Given the description of an element on the screen output the (x, y) to click on. 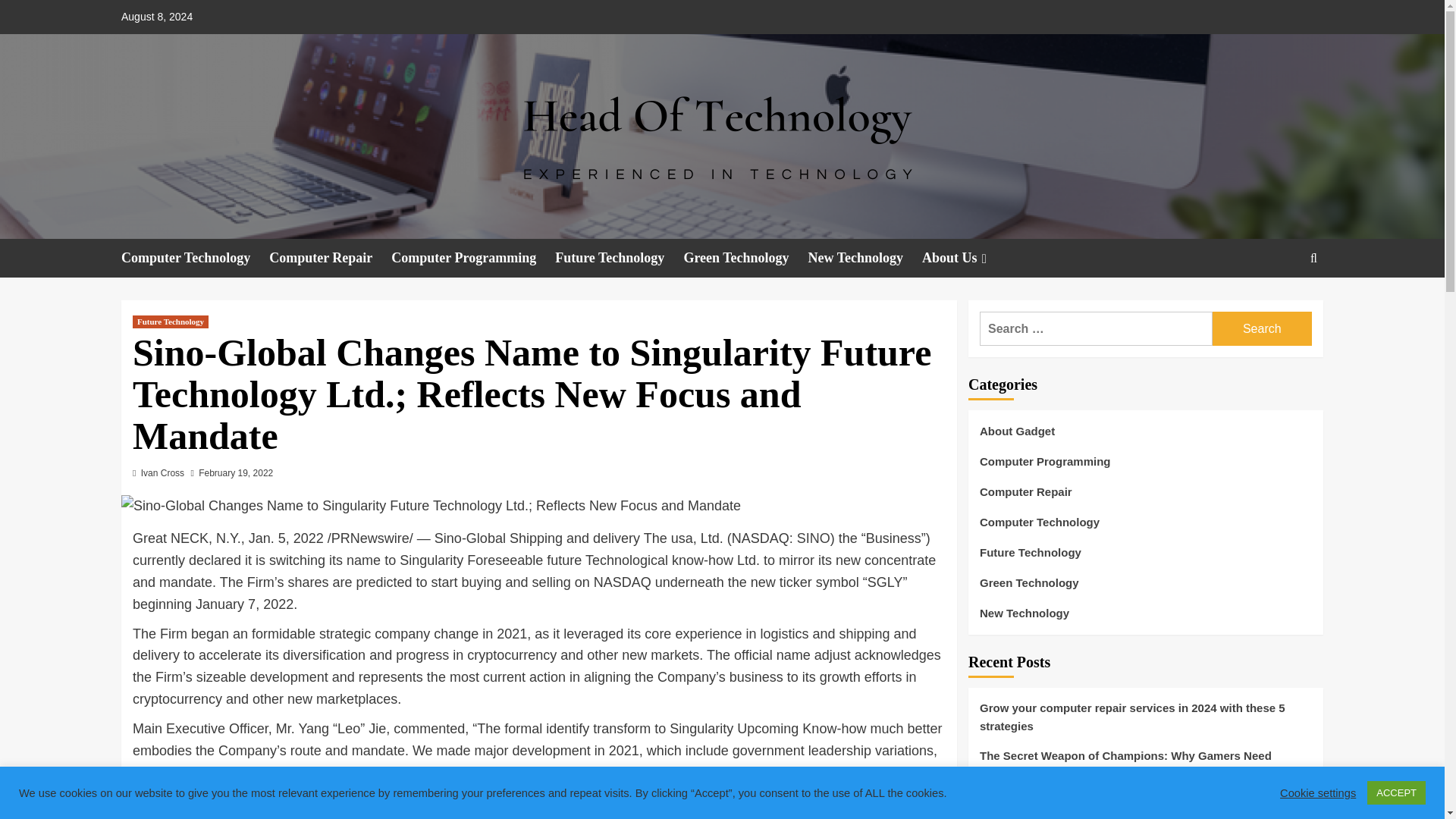
Search (1261, 328)
February 19, 2022 (235, 472)
SINO (812, 538)
Future Technology (170, 321)
Computer Repair (330, 258)
Search (1261, 328)
Computer Programming (472, 258)
New Technology (865, 258)
Computer Technology (194, 258)
